Given the description of an element on the screen output the (x, y) to click on. 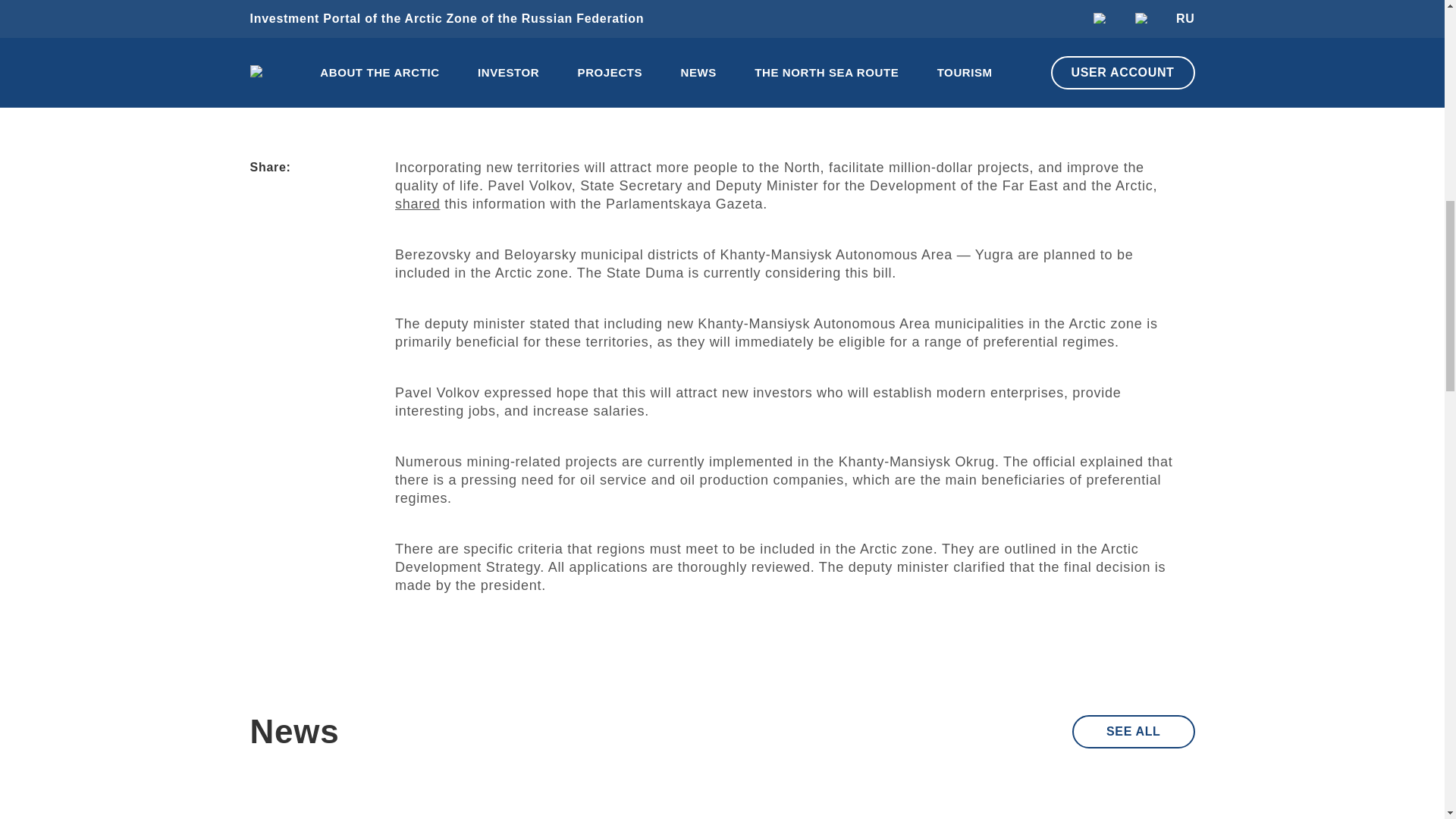
SEE ALL (1132, 731)
shared (416, 203)
